Given the description of an element on the screen output the (x, y) to click on. 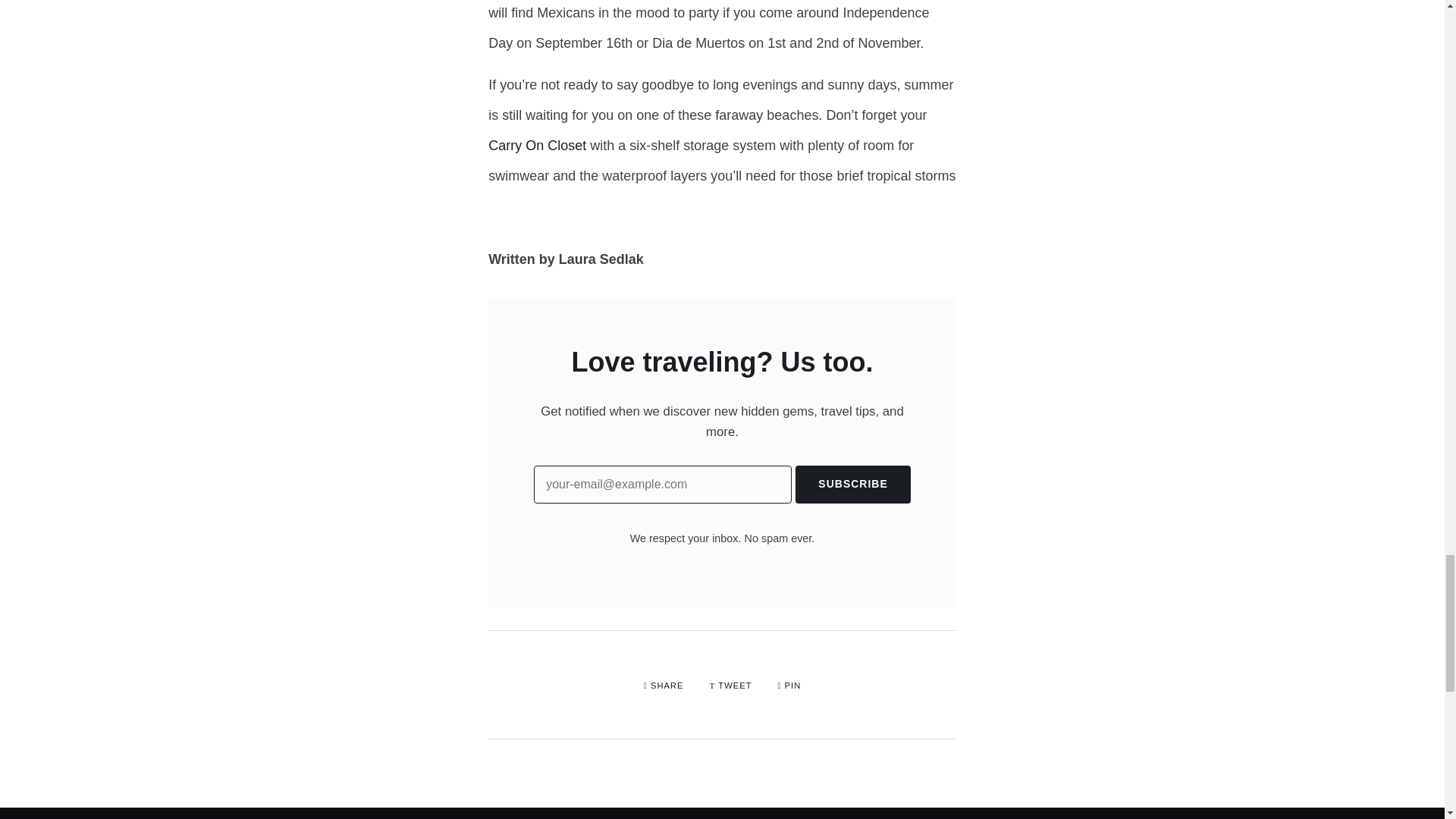
Subscribe (852, 484)
